Given the description of an element on the screen output the (x, y) to click on. 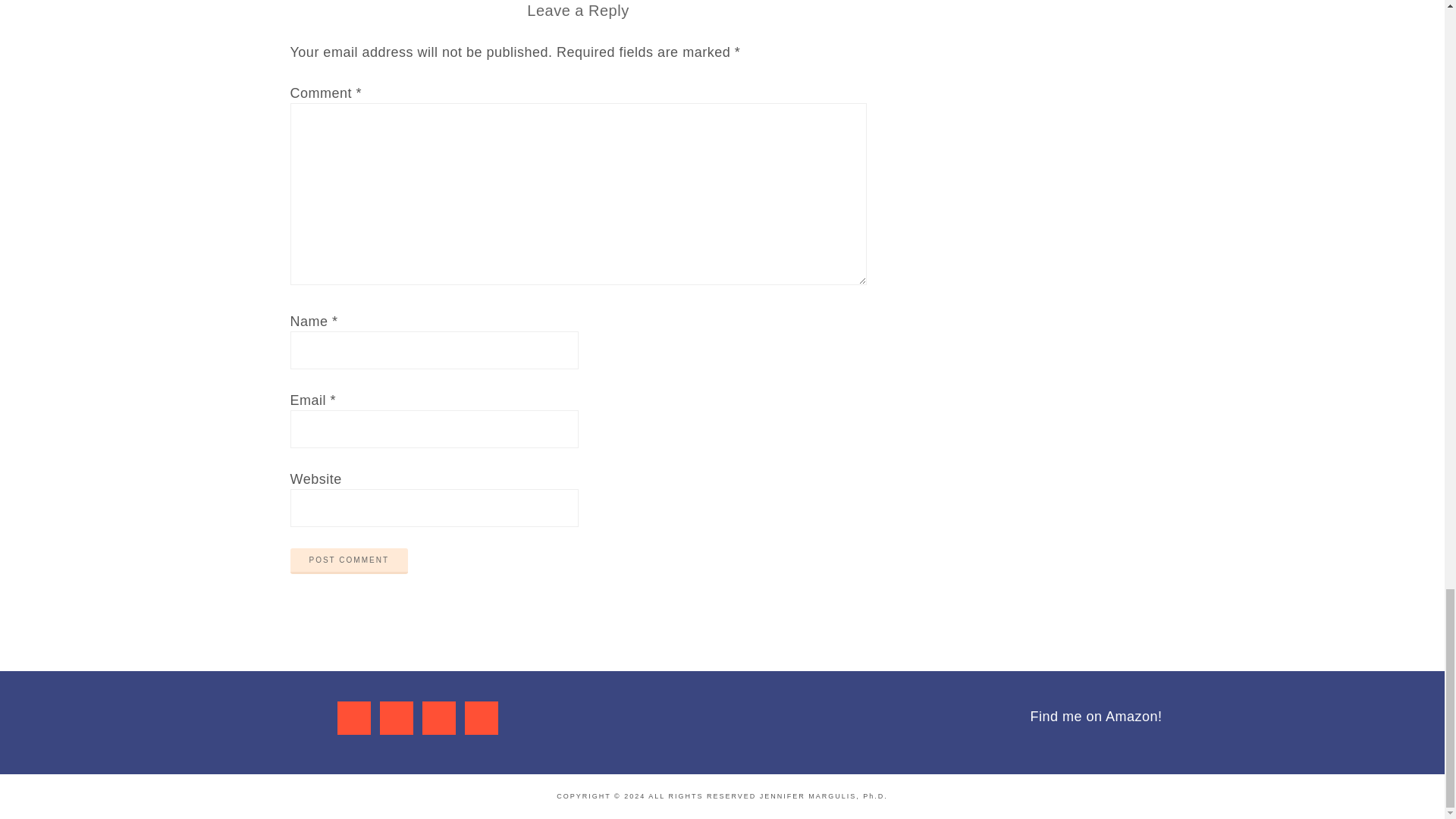
Post Comment (348, 560)
Post Comment (348, 560)
